Given the description of an element on the screen output the (x, y) to click on. 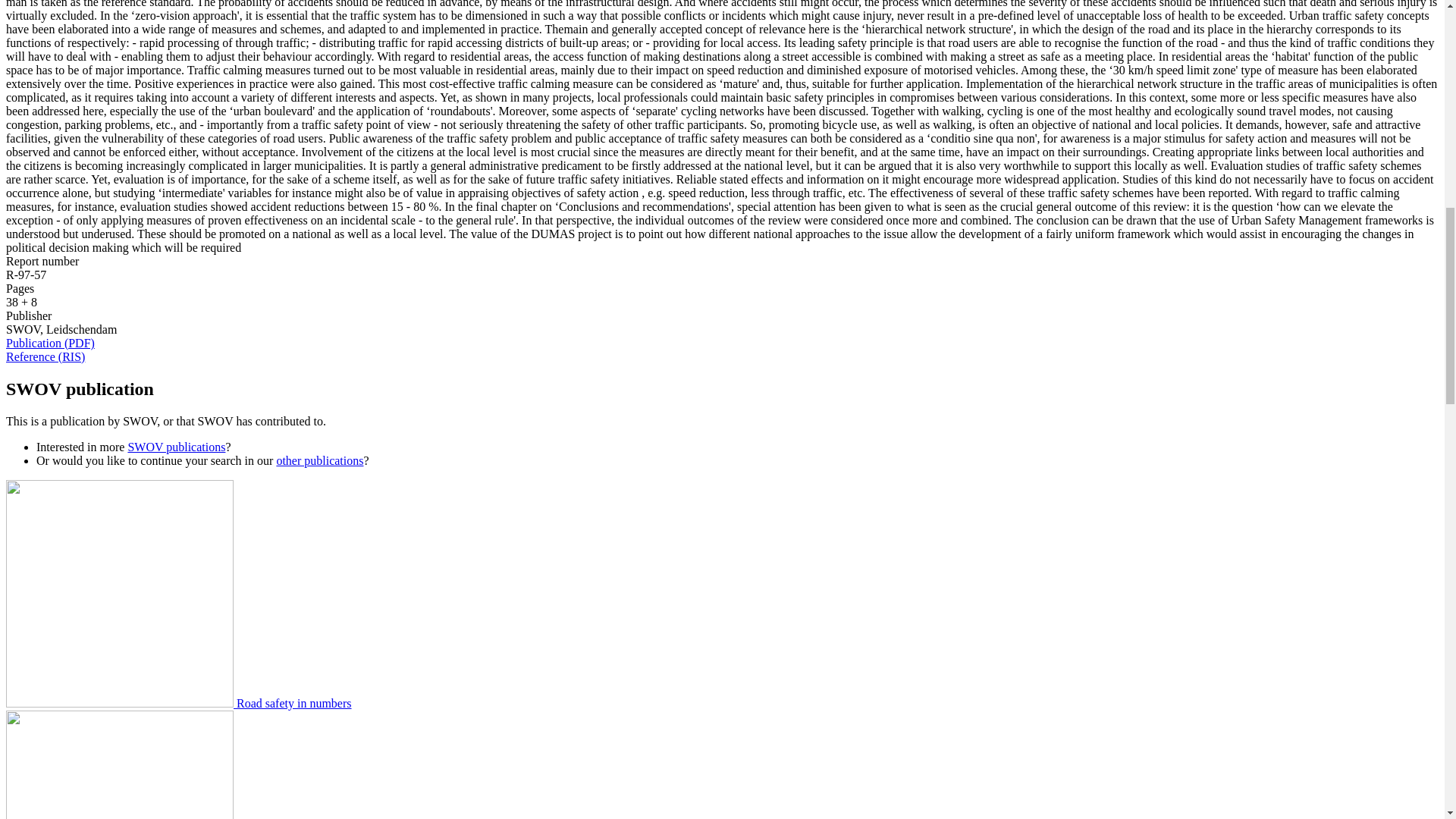
r-97-57.pdf (49, 342)
Road safety in numbers (178, 703)
SWOV publications (176, 446)
other publications (319, 460)
